Given the description of an element on the screen output the (x, y) to click on. 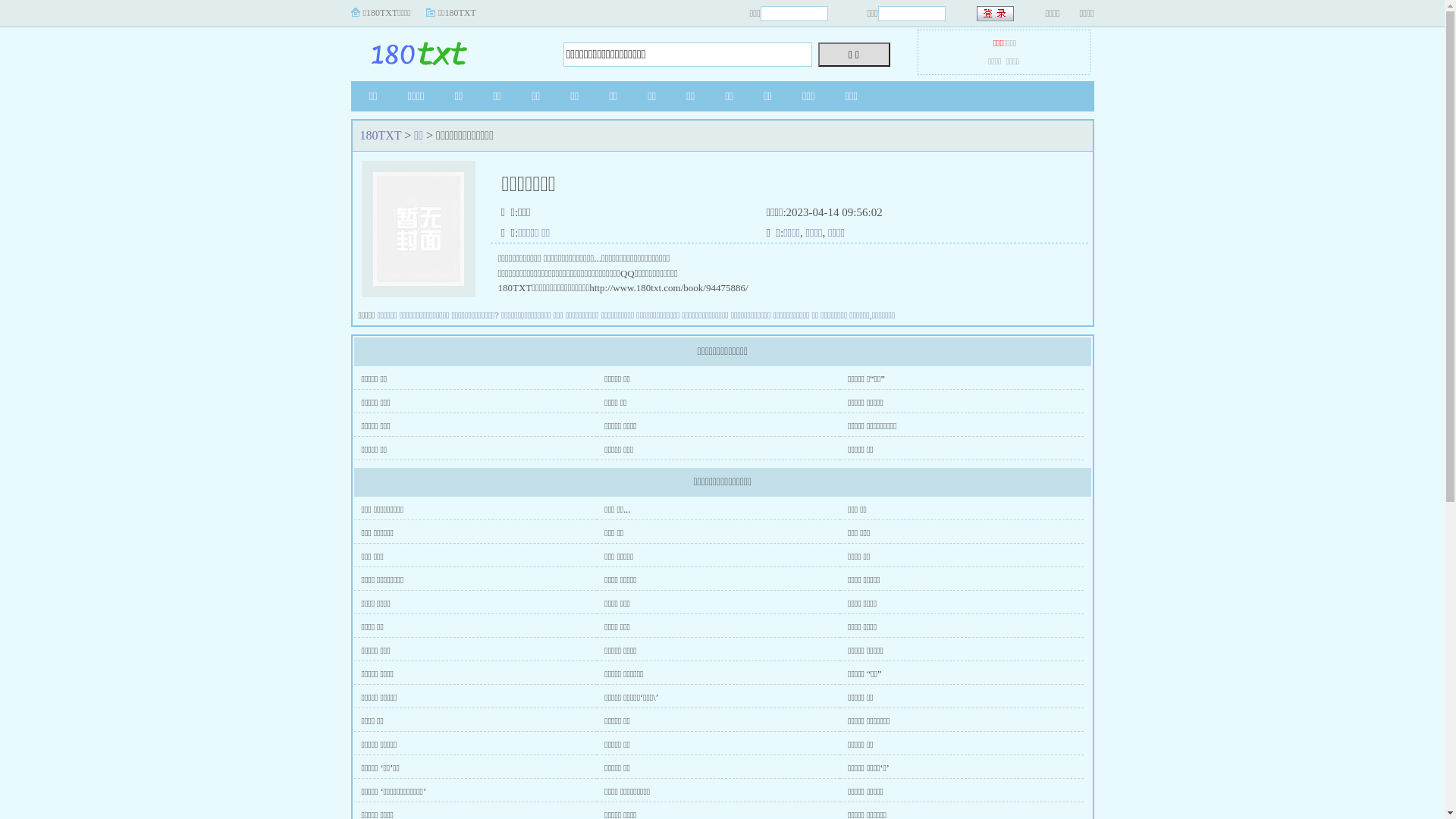
180TXT Element type: text (380, 134)
180TXT Element type: text (444, 49)
  Element type: text (995, 13)
